Given the description of an element on the screen output the (x, y) to click on. 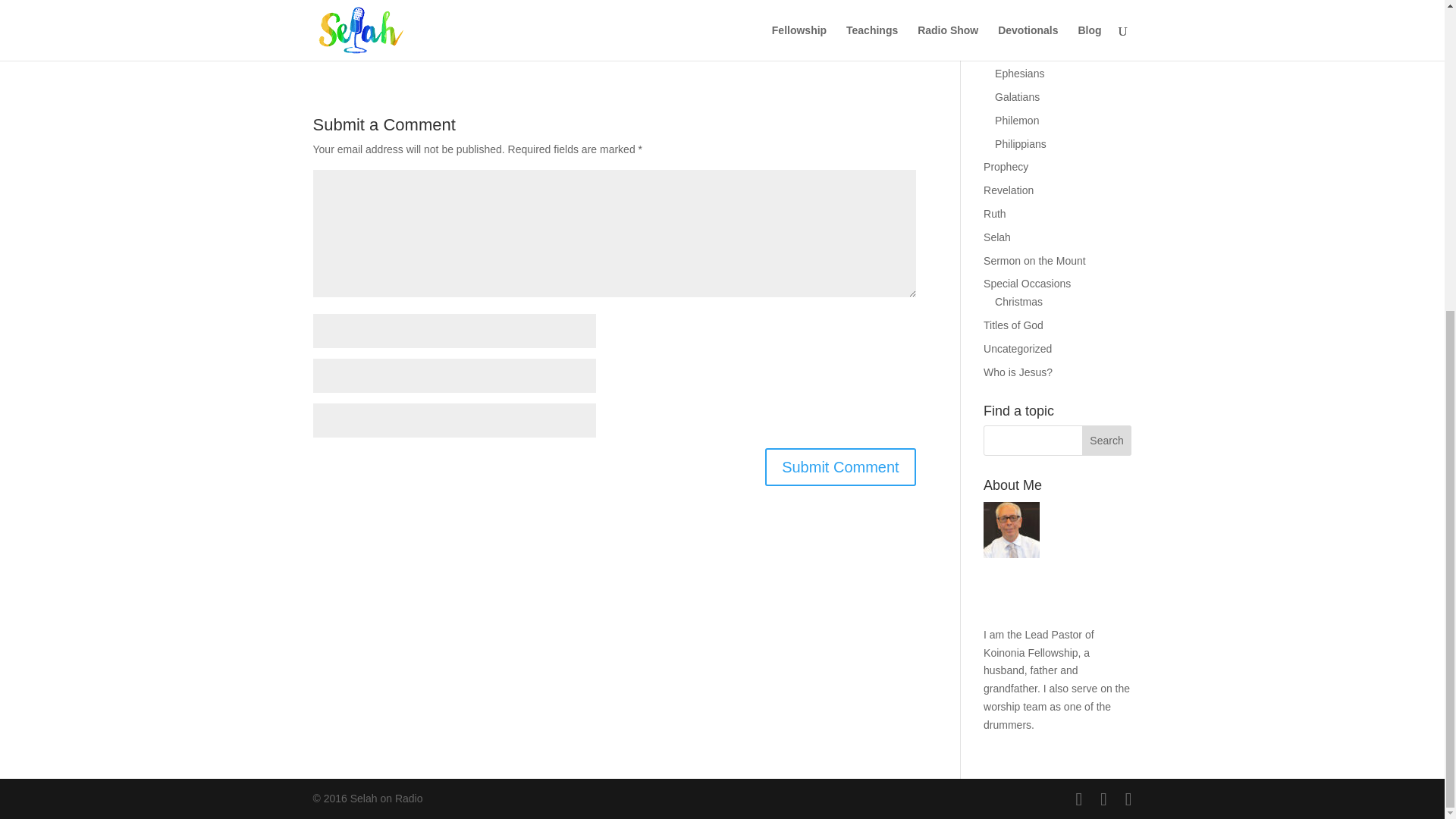
Prayer (999, 9)
Submit Comment (840, 466)
Submit Comment (840, 466)
Prophecy (1005, 166)
Ephesians (1018, 73)
Colossians (1020, 50)
Philippians (1020, 143)
Search (1106, 440)
Philemon (1016, 120)
Galatians (1016, 96)
